Given the description of an element on the screen output the (x, y) to click on. 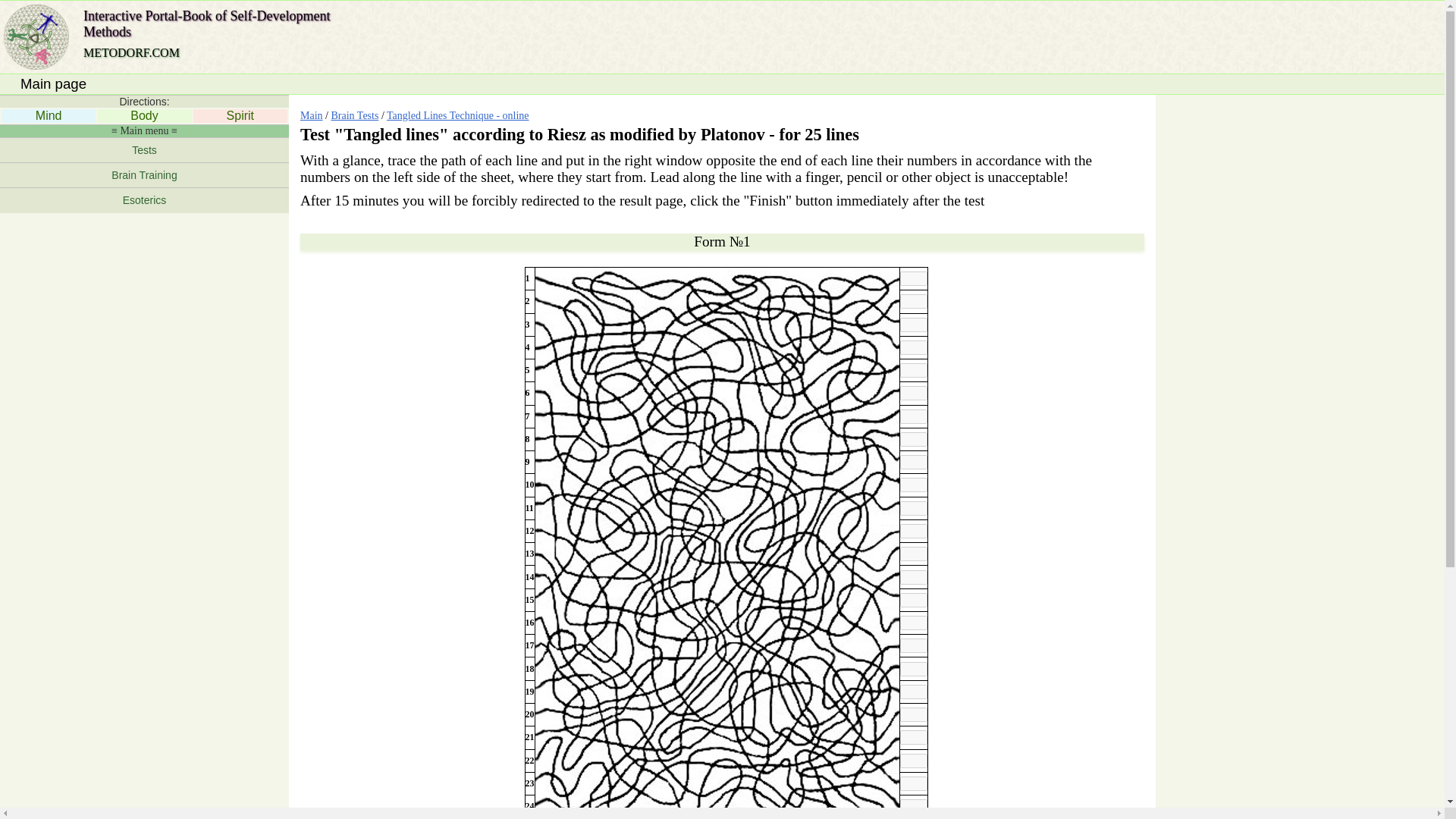
Body (143, 115)
Brain Tests (354, 115)
Main page (52, 83)
Mind (48, 115)
Spirit (239, 115)
Tangled Lines Technique - online (458, 115)
Main (311, 115)
